Given the description of an element on the screen output the (x, y) to click on. 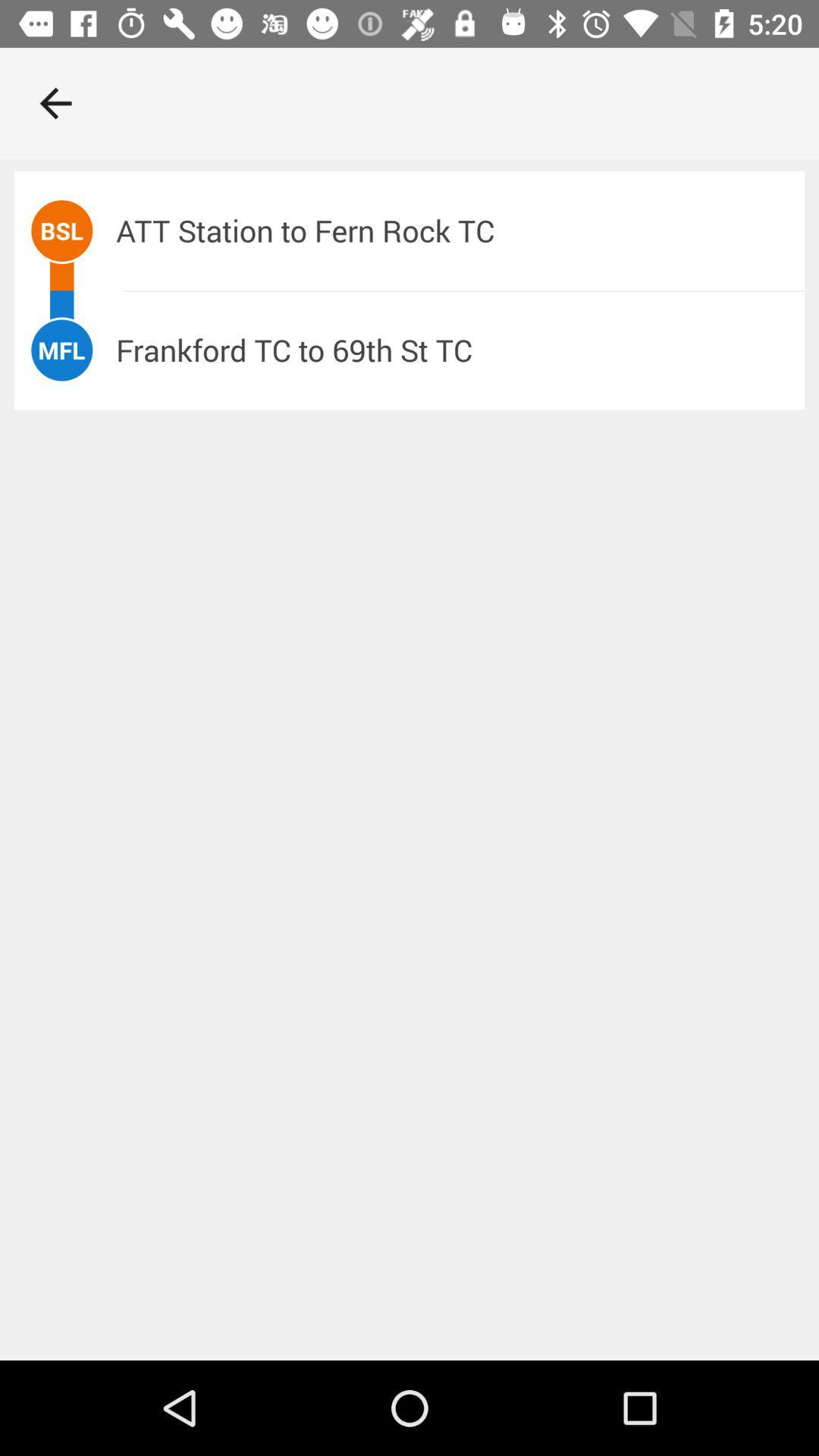
choose bsl icon (61, 230)
